Given the description of an element on the screen output the (x, y) to click on. 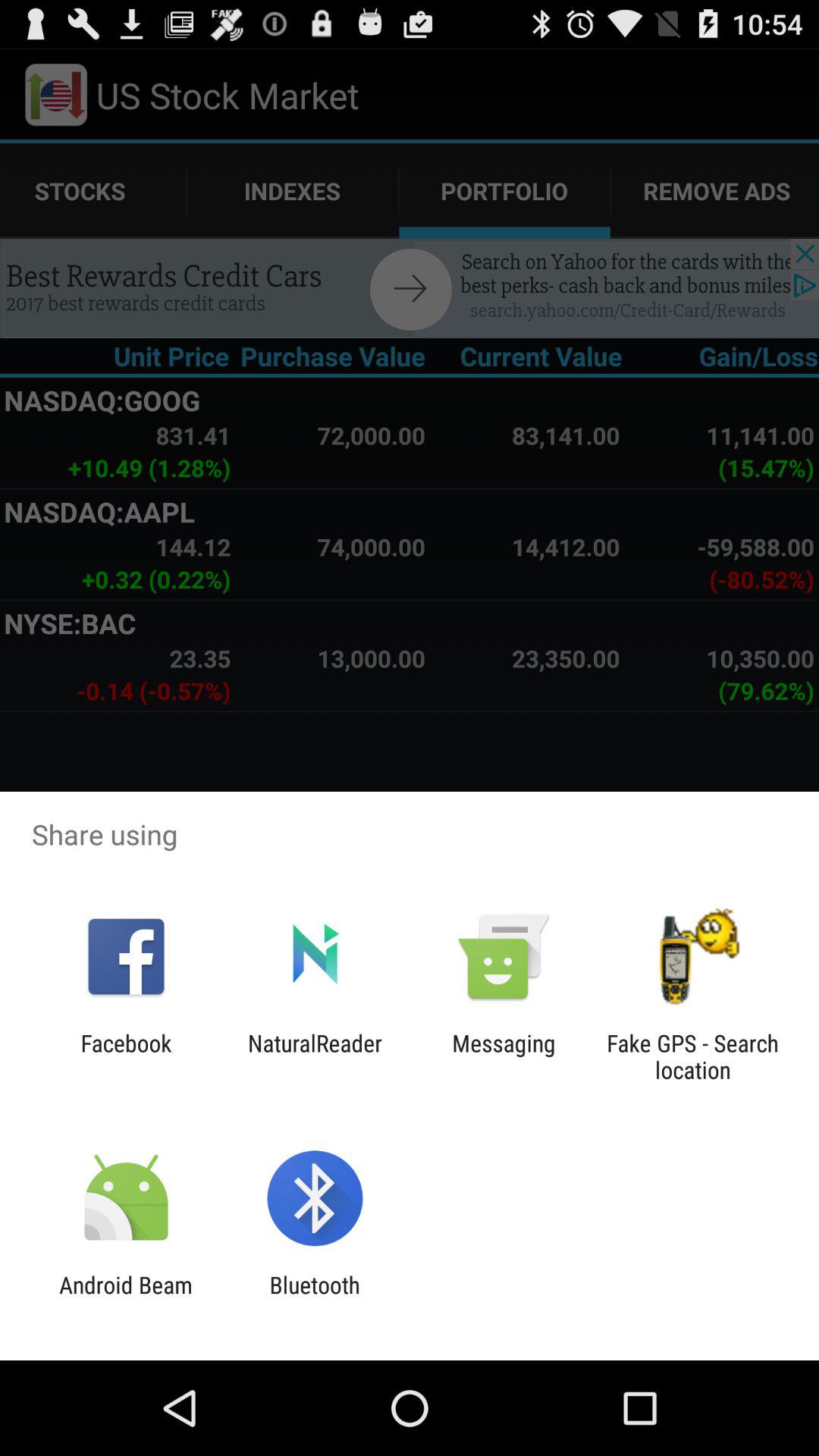
click the icon to the left of the naturalreader app (125, 1056)
